Given the description of an element on the screen output the (x, y) to click on. 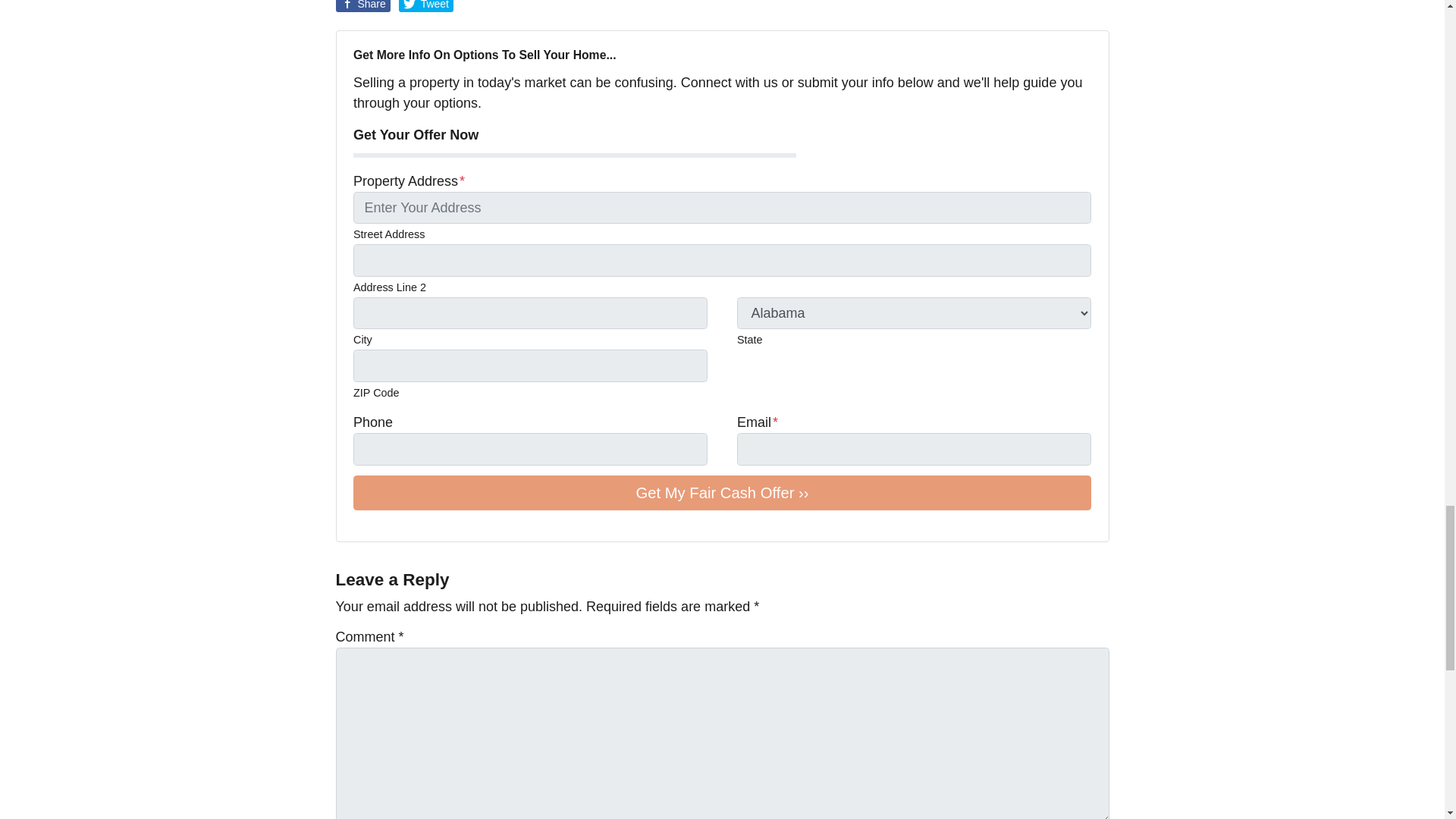
Share on Twitter (425, 6)
Share (362, 6)
Share on Facebook (362, 6)
Tweet (425, 6)
